Given the description of an element on the screen output the (x, y) to click on. 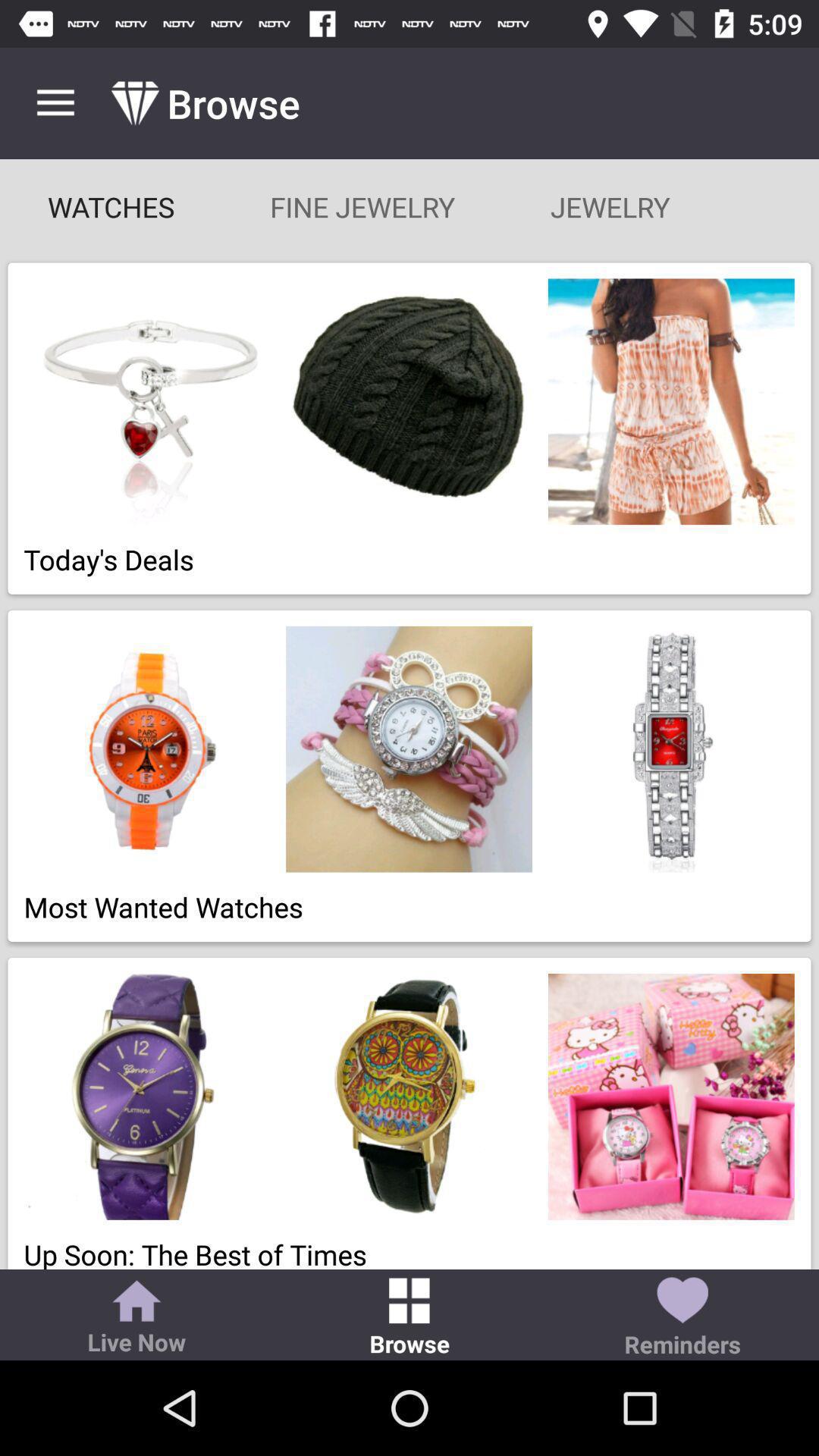
open the icon above the watches icon (55, 103)
